Given the description of an element on the screen output the (x, y) to click on. 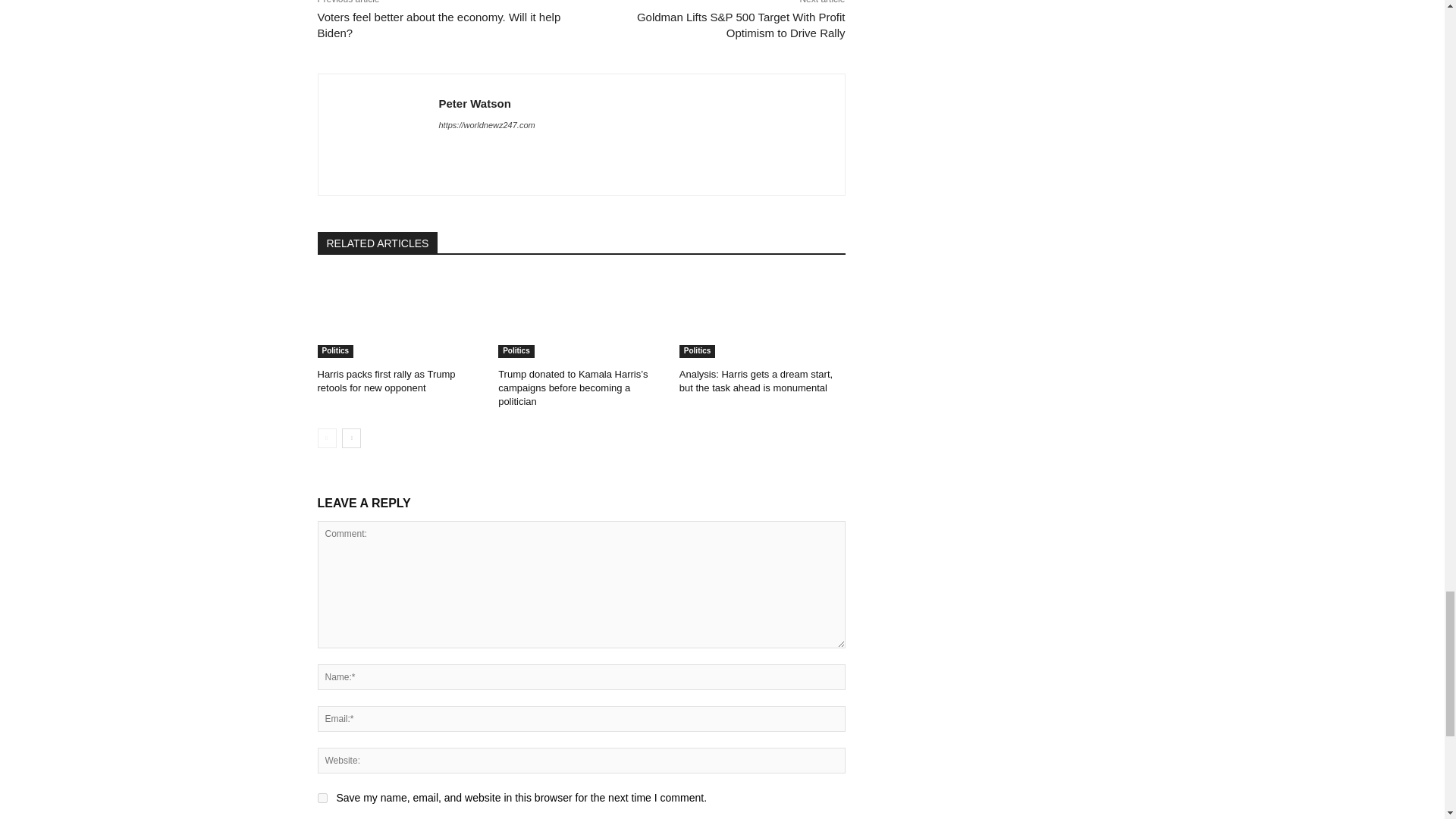
yes (321, 798)
